Given the description of an element on the screen output the (x, y) to click on. 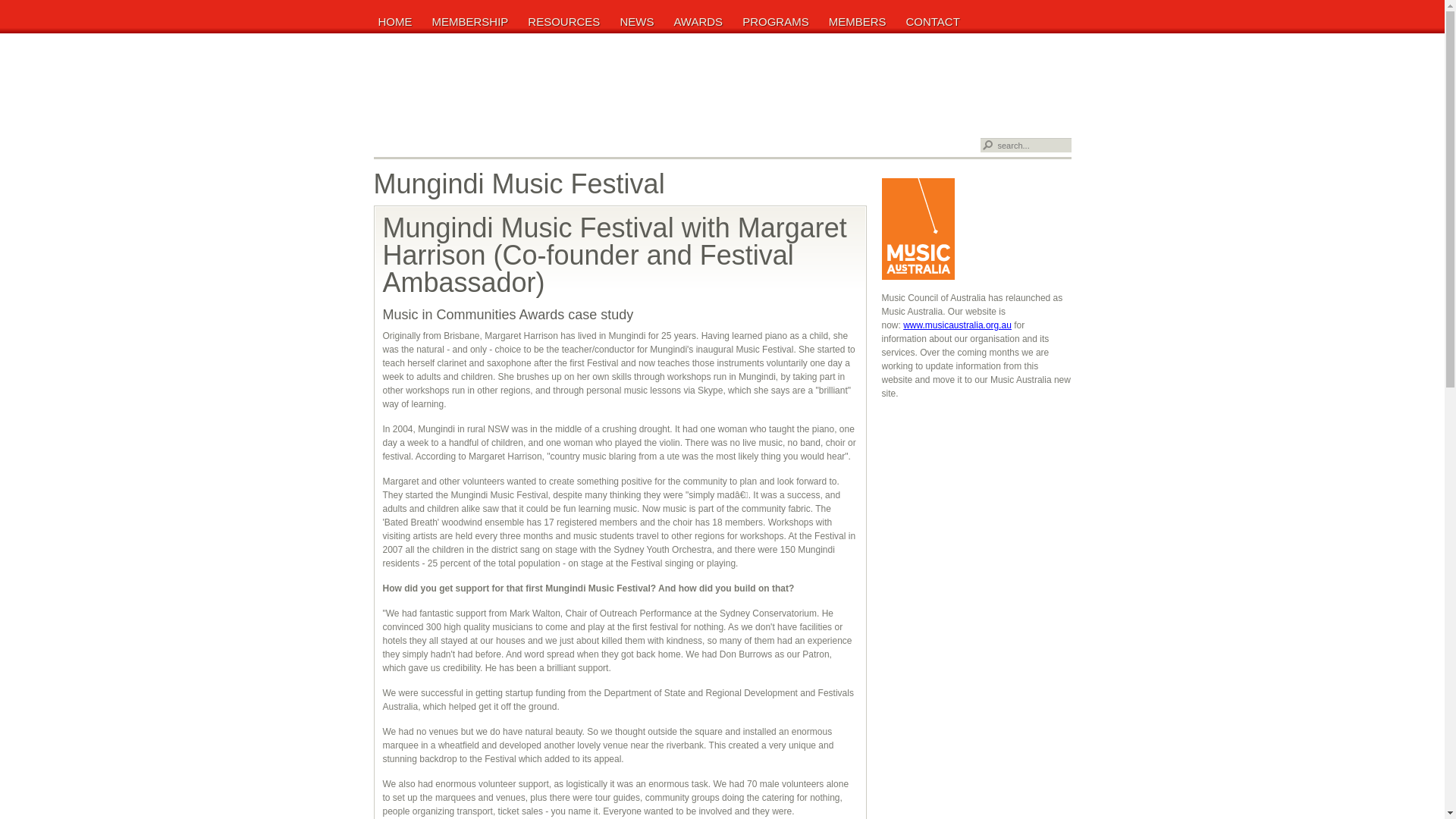
PROGRAMS Element type: text (777, 20)
Search Element type: text (986, 145)
CONTACT Element type: text (934, 20)
HOME Element type: text (396, 20)
Reset Element type: text (6, 6)
www.musicaustralia.org.au Element type: text (957, 325)
